Given the description of an element on the screen output the (x, y) to click on. 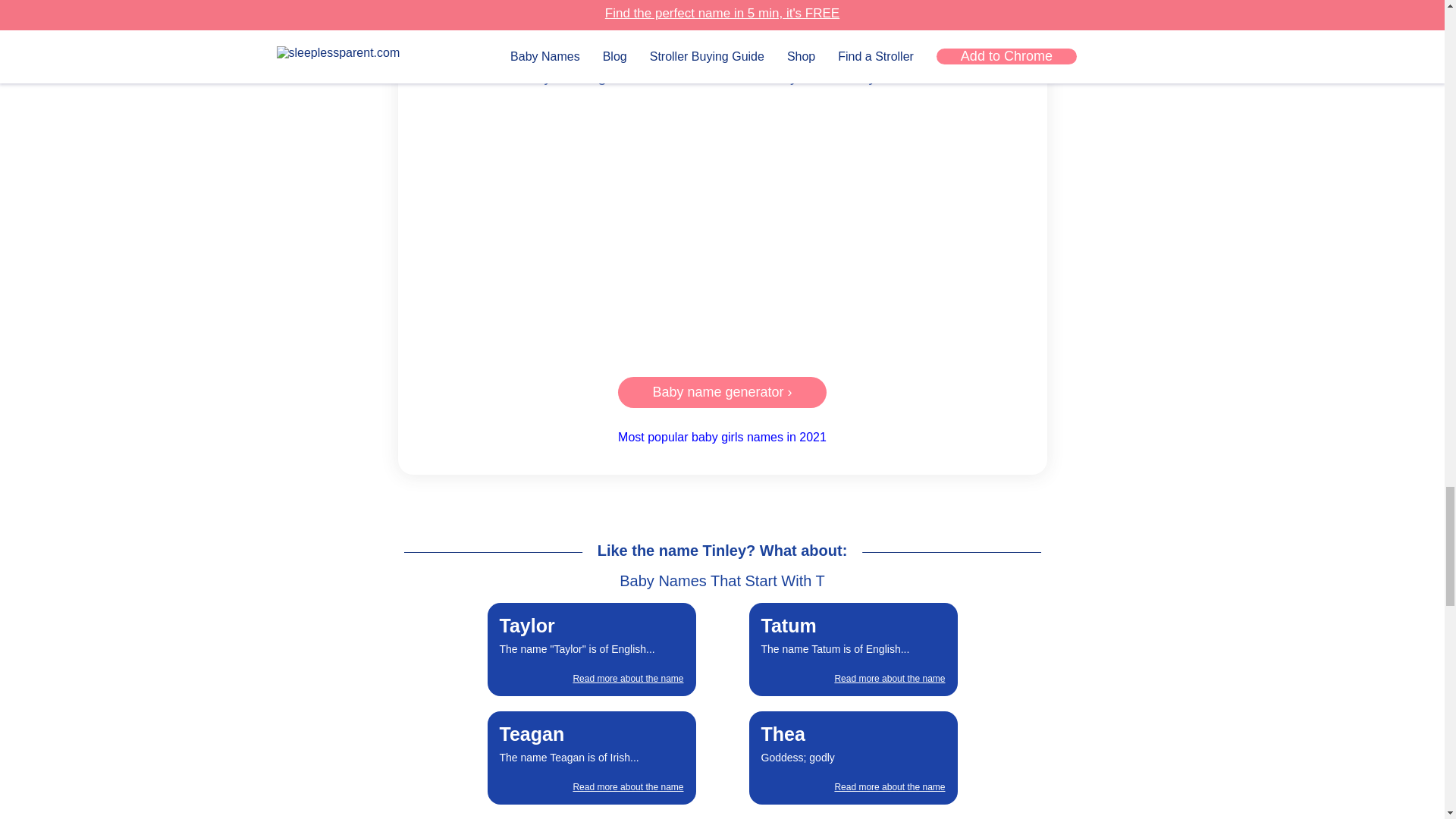
Most popular baby girls names in 2021 (853, 757)
YouTube video player (722, 436)
